Given the description of an element on the screen output the (x, y) to click on. 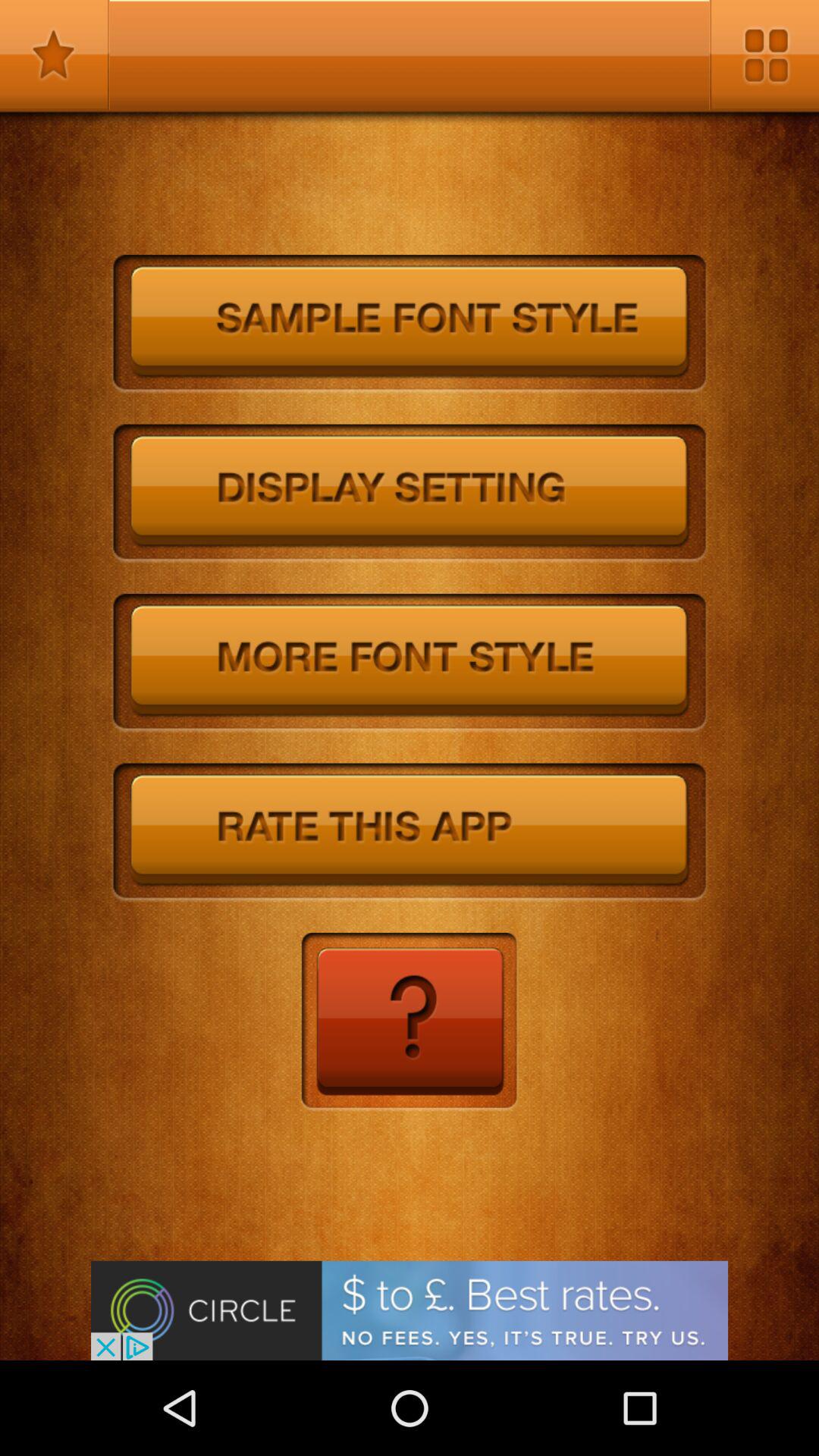
main screen (764, 54)
